Given the description of an element on the screen output the (x, y) to click on. 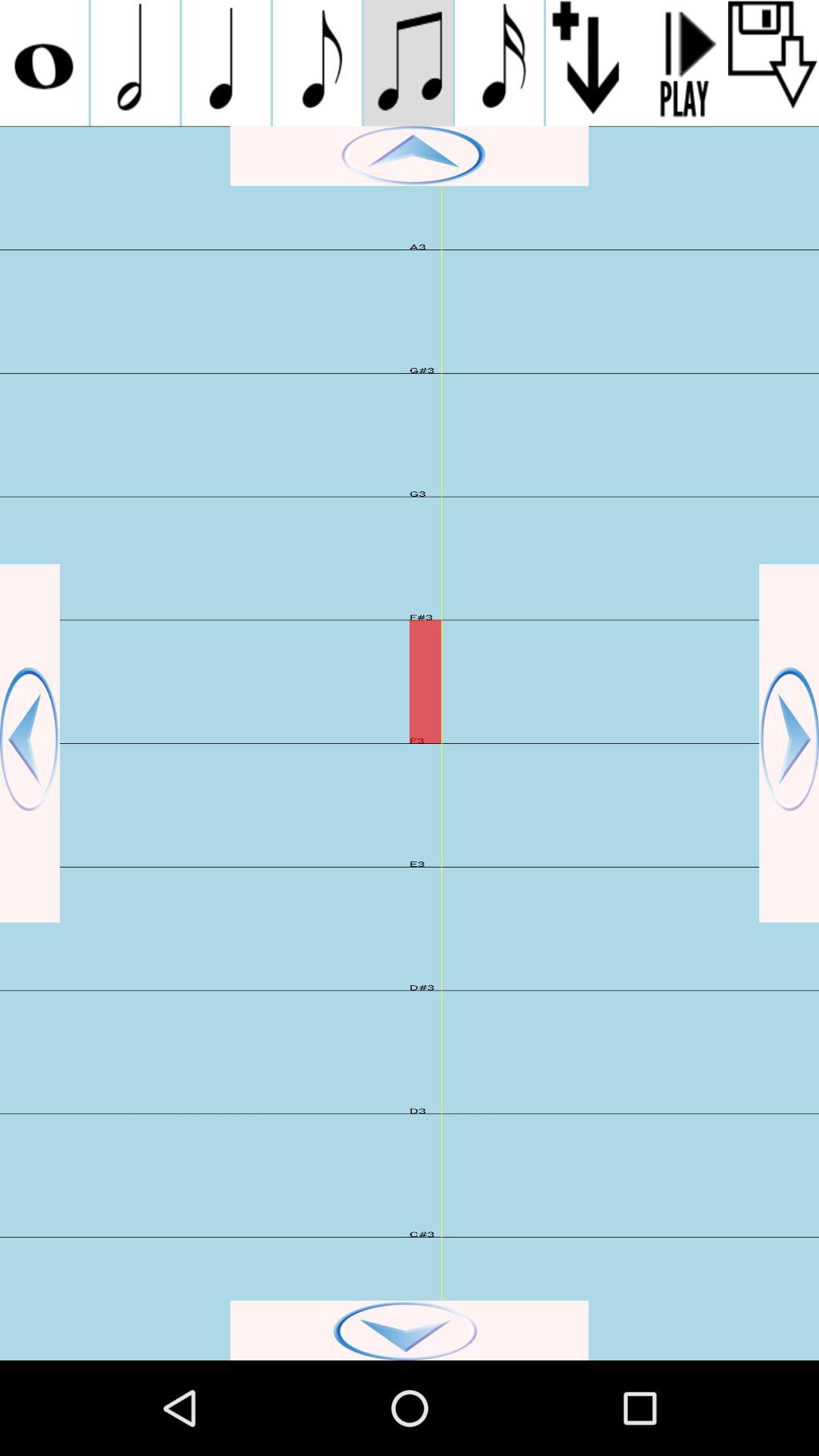
add note (226, 63)
